Given the description of an element on the screen output the (x, y) to click on. 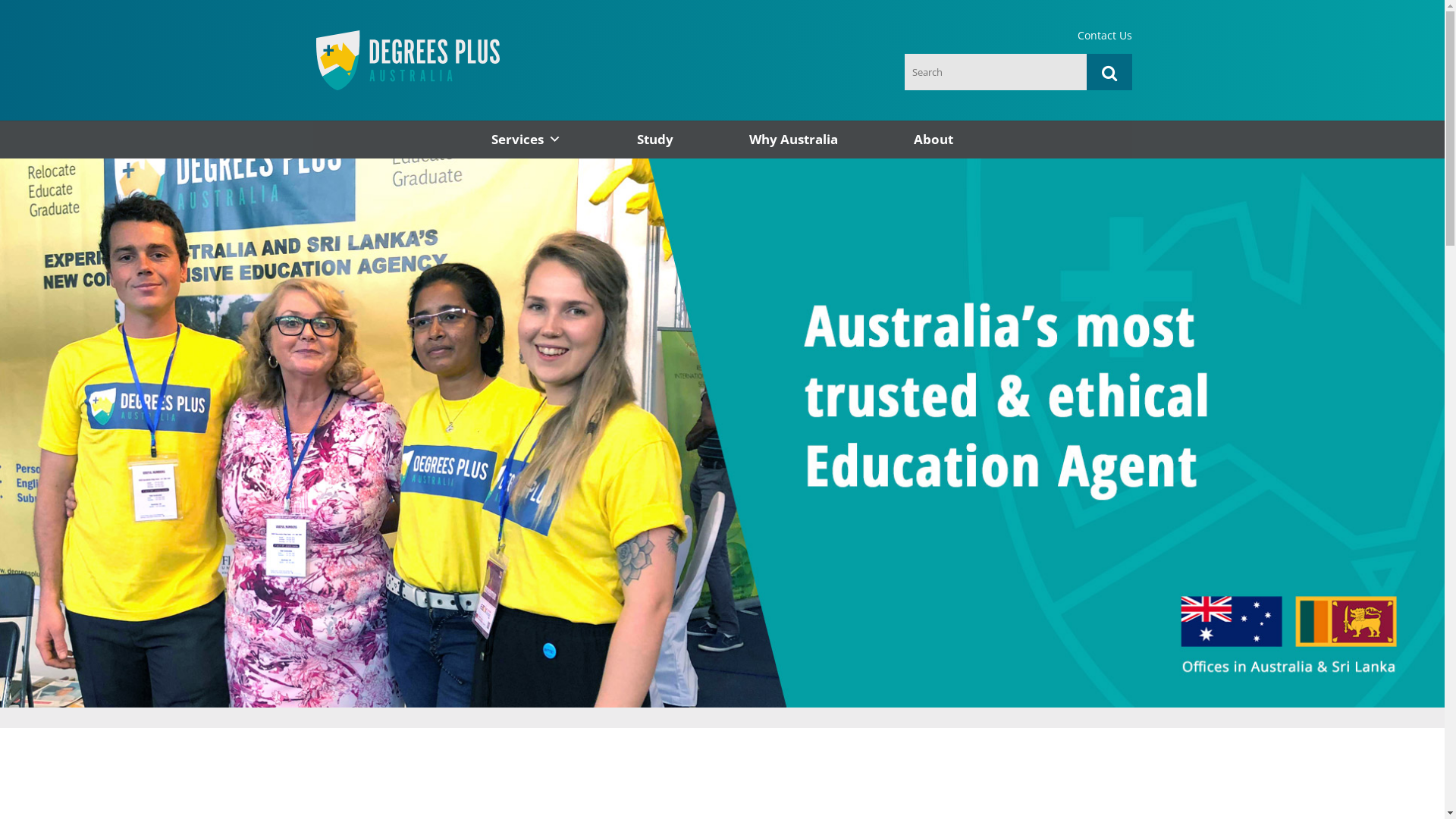
Why Australia Element type: text (793, 139)
home-header-2020-v01 Element type: hover (722, 432)
Services Element type: text (526, 139)
About Element type: text (933, 139)
Contact Us Element type: text (1103, 41)
Search for: Element type: hover (994, 71)
Study Element type: text (655, 139)
